Given the description of an element on the screen output the (x, y) to click on. 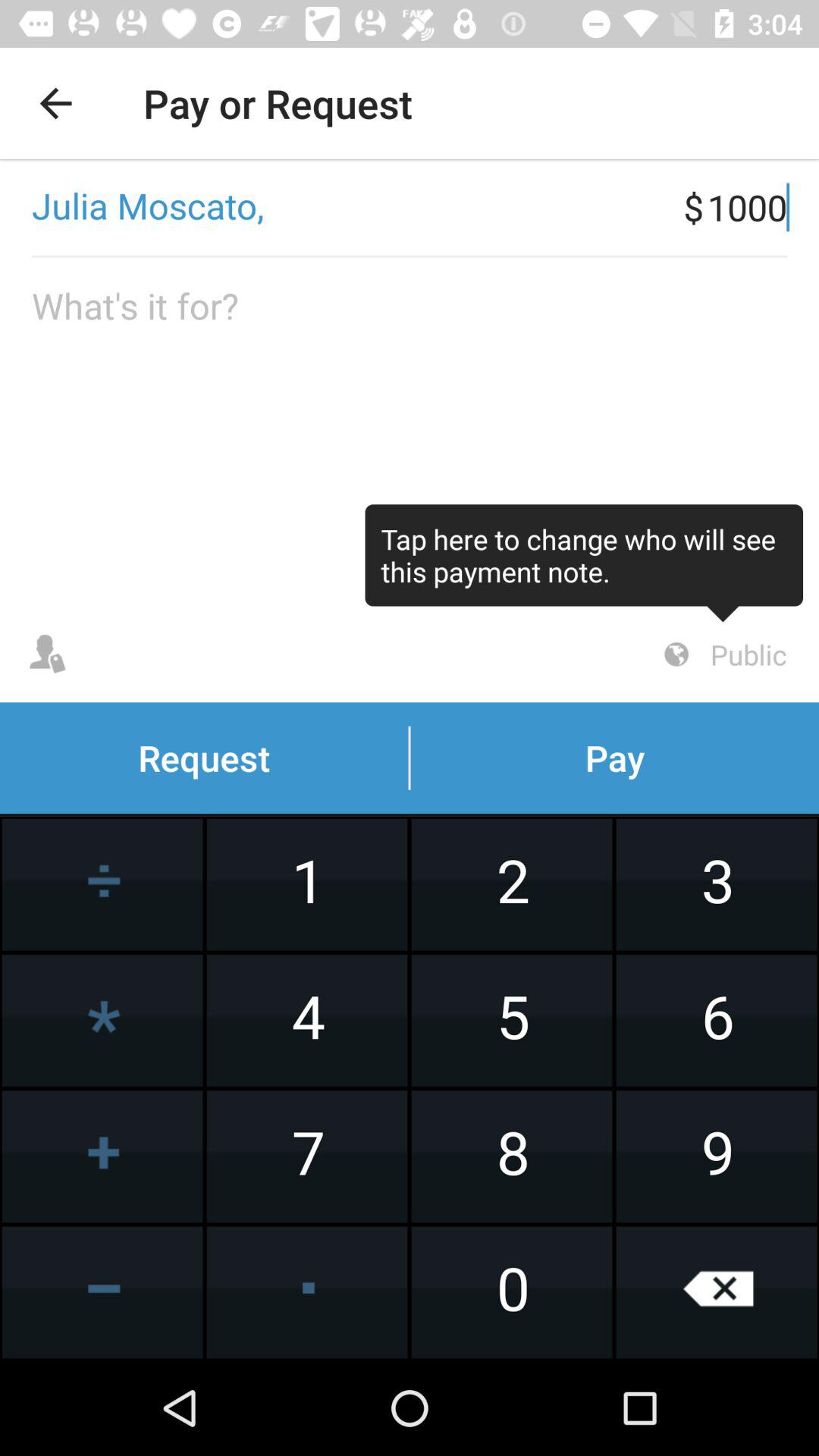
open the item at the top left corner (55, 103)
